Given the description of an element on the screen output the (x, y) to click on. 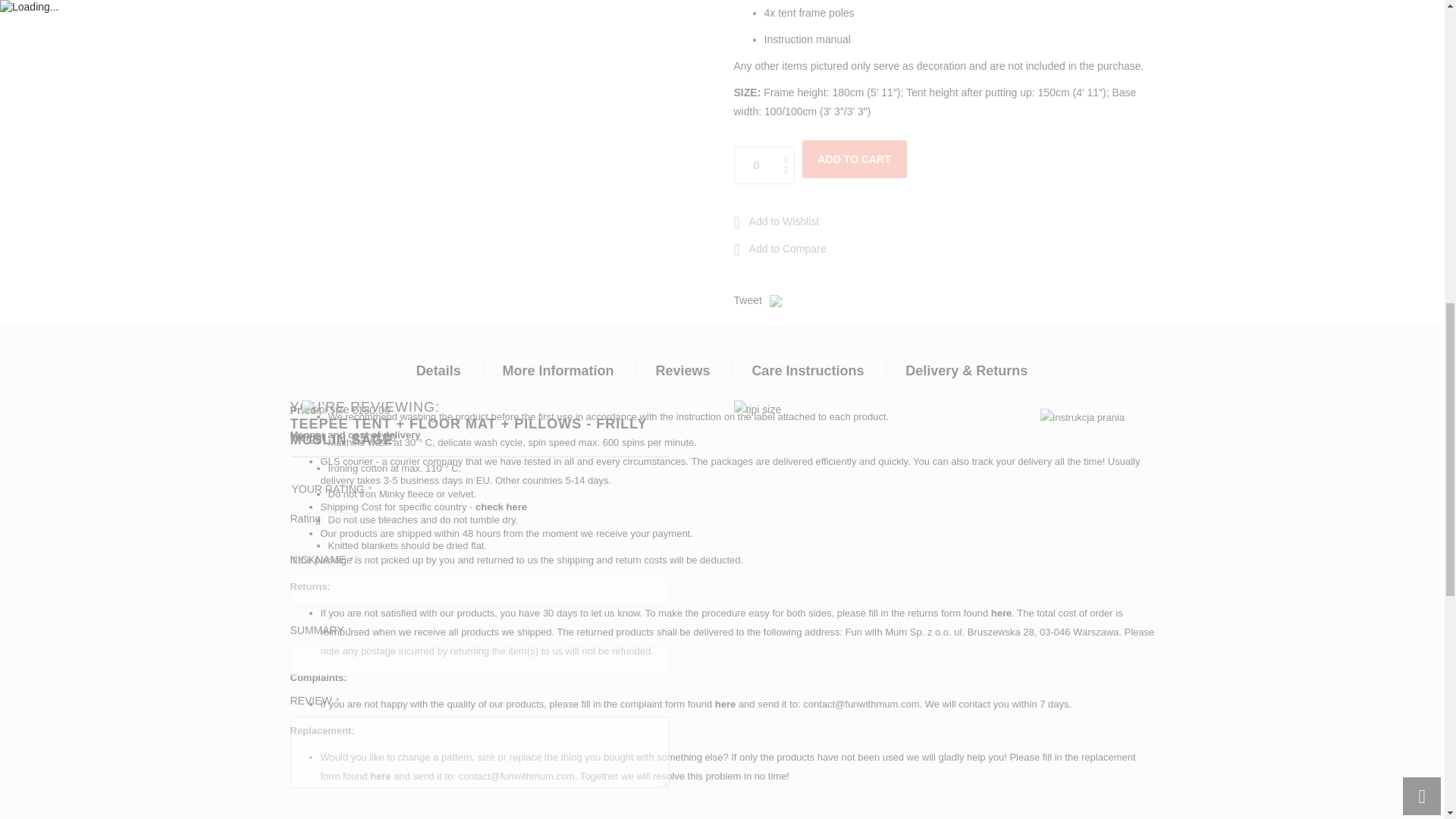
Qty (763, 165)
Care Instructions (1082, 417)
Add to Cart (854, 159)
4 stars (339, 520)
0 (763, 165)
5 stars (342, 520)
Shipping Costs (501, 506)
